Given the description of an element on the screen output the (x, y) to click on. 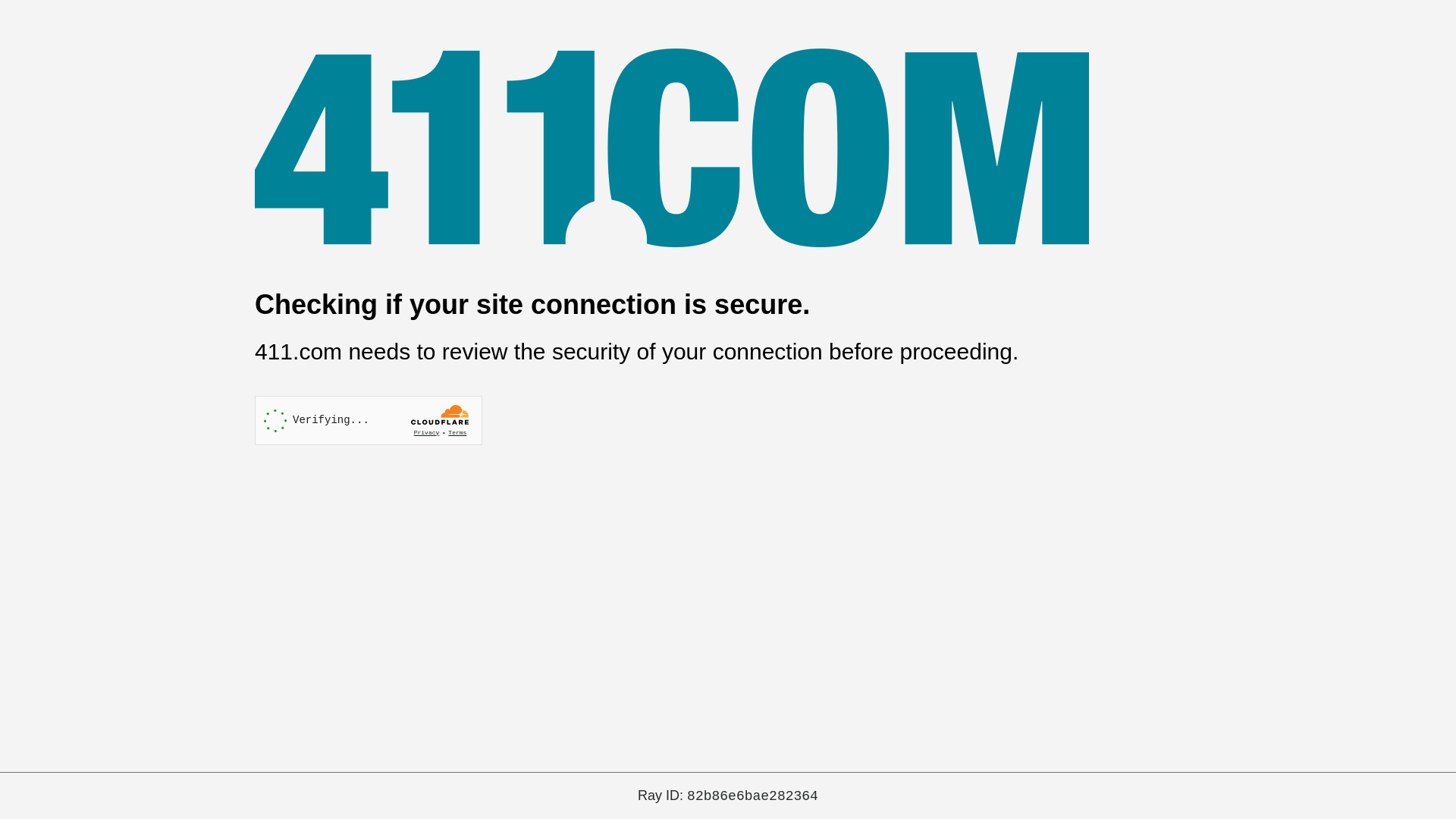
Widget containing a Cloudflare security challenge Element type: hover (368, 420)
